Given the description of an element on the screen output the (x, y) to click on. 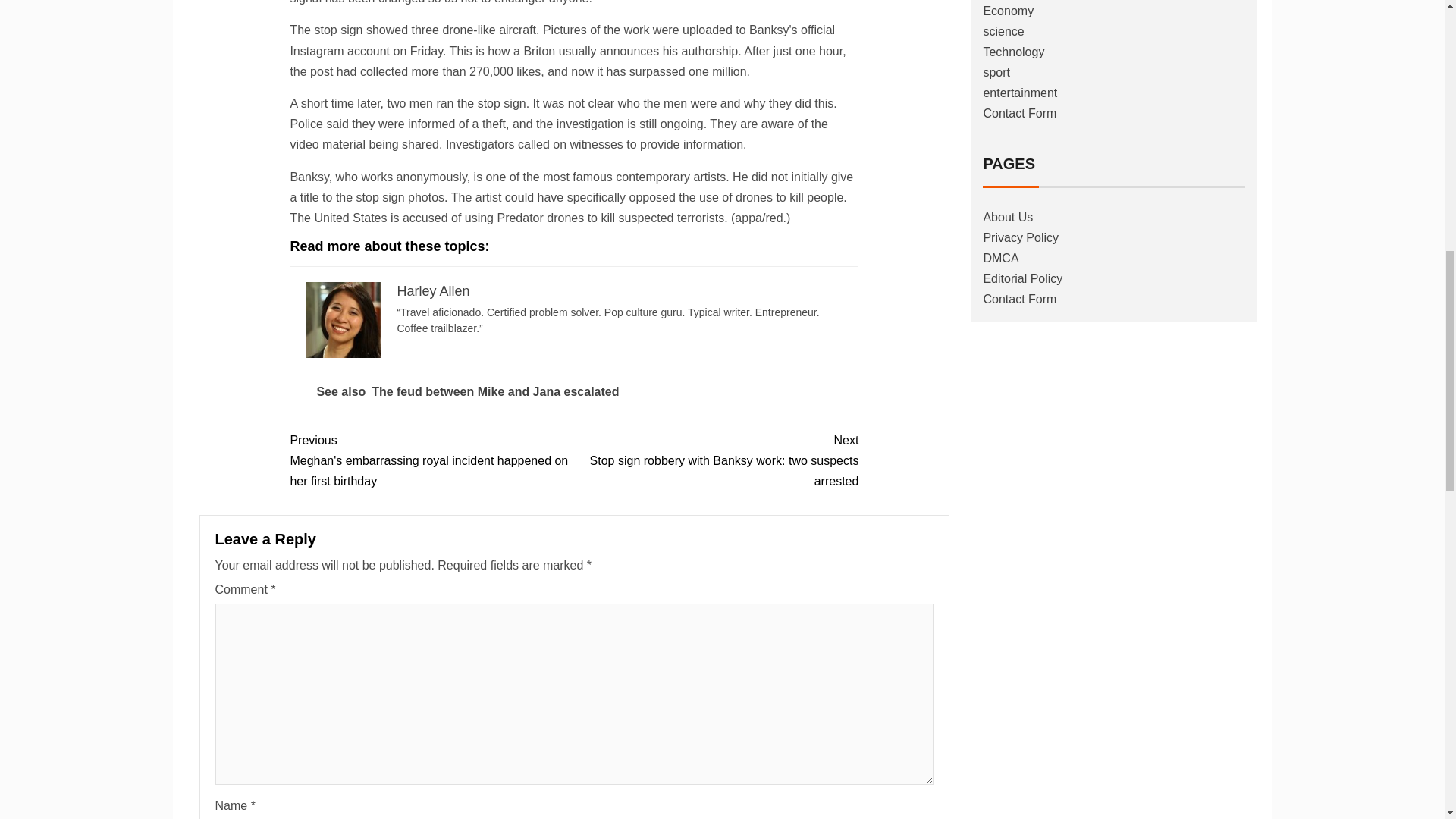
See also  The feud between Mike and Jana escalated (574, 392)
Harley Allen (432, 290)
